Given the description of an element on the screen output the (x, y) to click on. 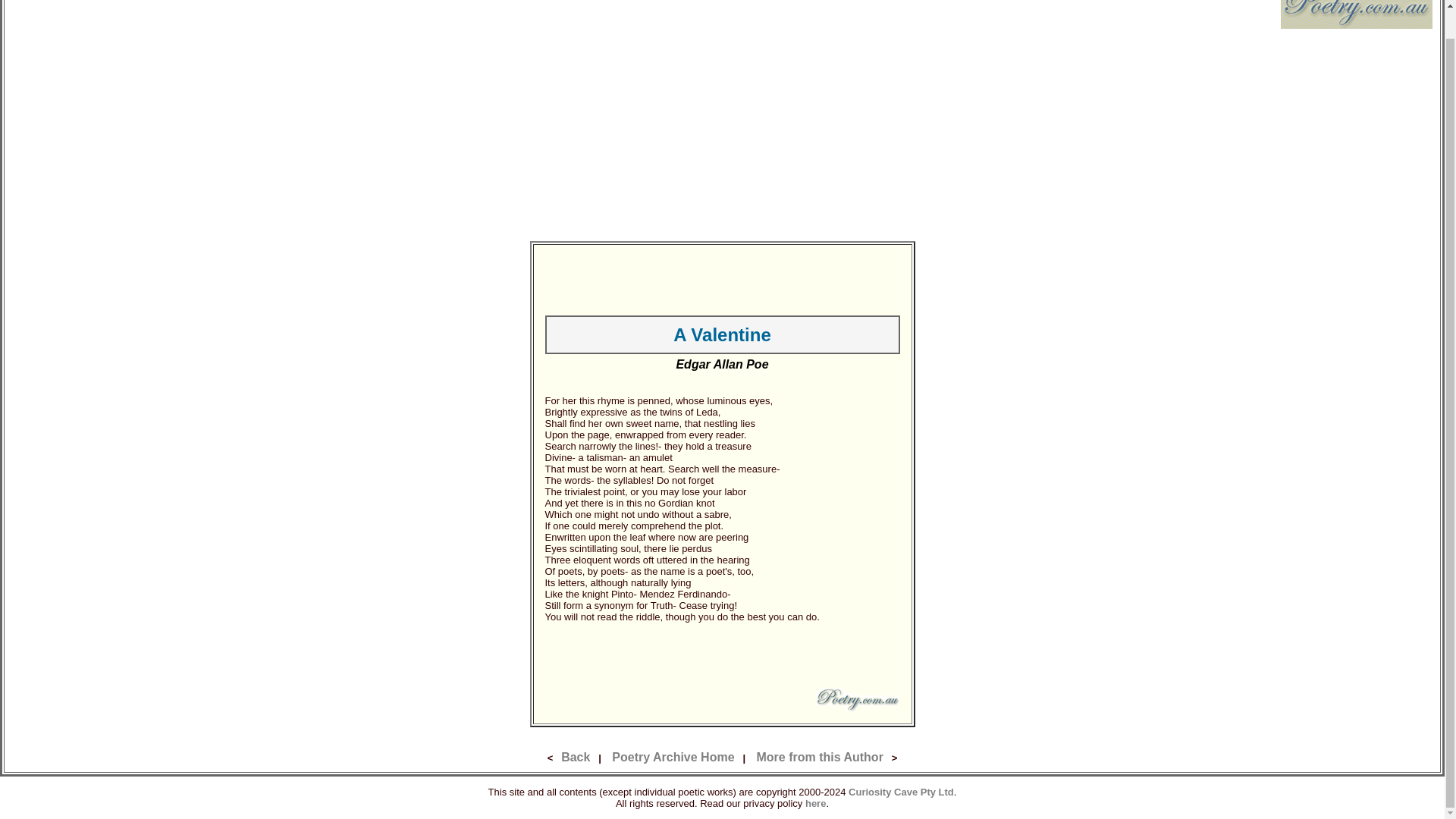
Advertisement (721, 279)
More from this Author (818, 757)
here (815, 802)
Curiosity Cave Pty Ltd (900, 790)
Poetry Archive Home (672, 757)
Back (574, 757)
Advertisement (721, 655)
